Given the description of an element on the screen output the (x, y) to click on. 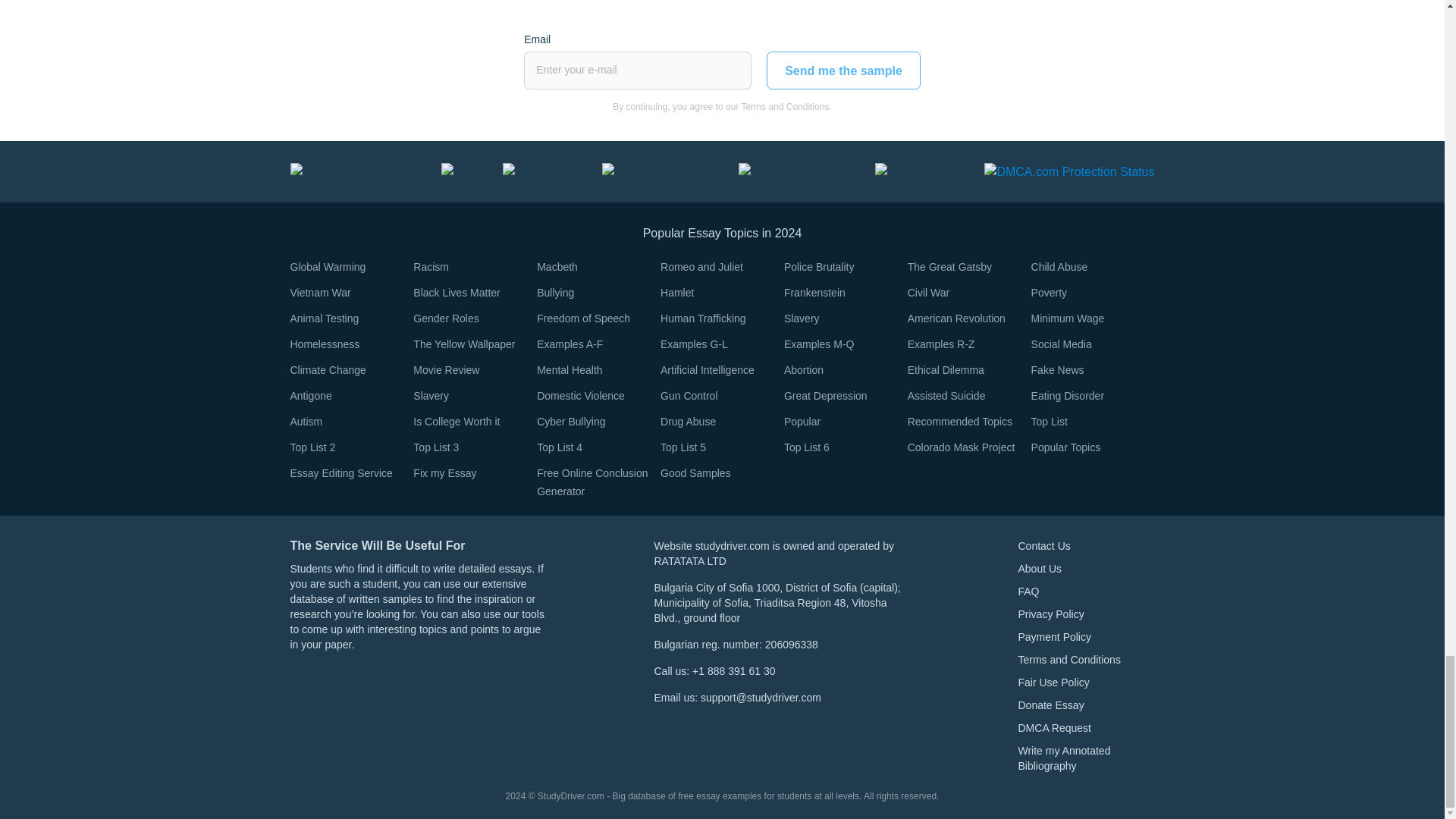
DMCA.com Protection Status (1069, 170)
